Given the description of an element on the screen output the (x, y) to click on. 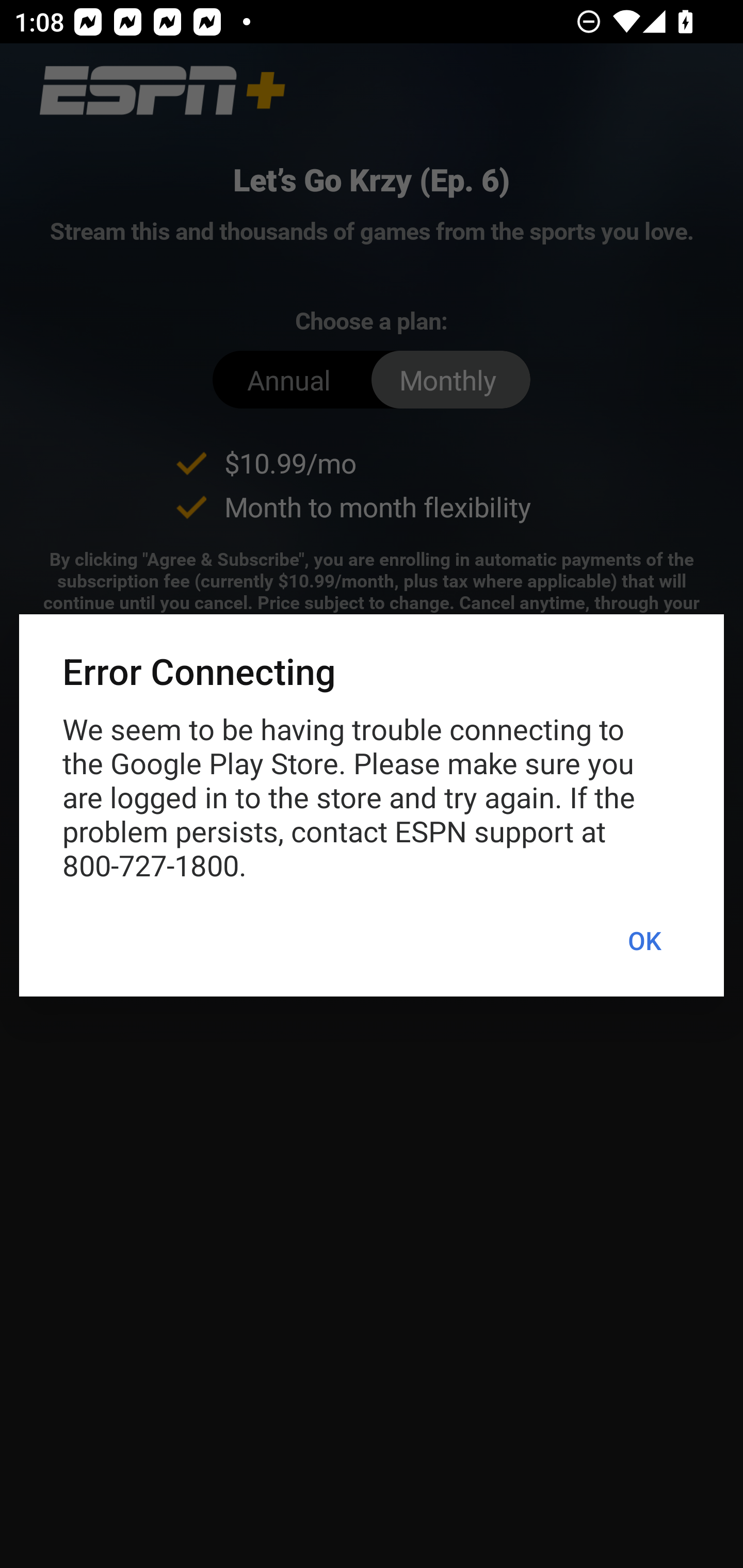
OK (644, 940)
